Given the description of an element on the screen output the (x, y) to click on. 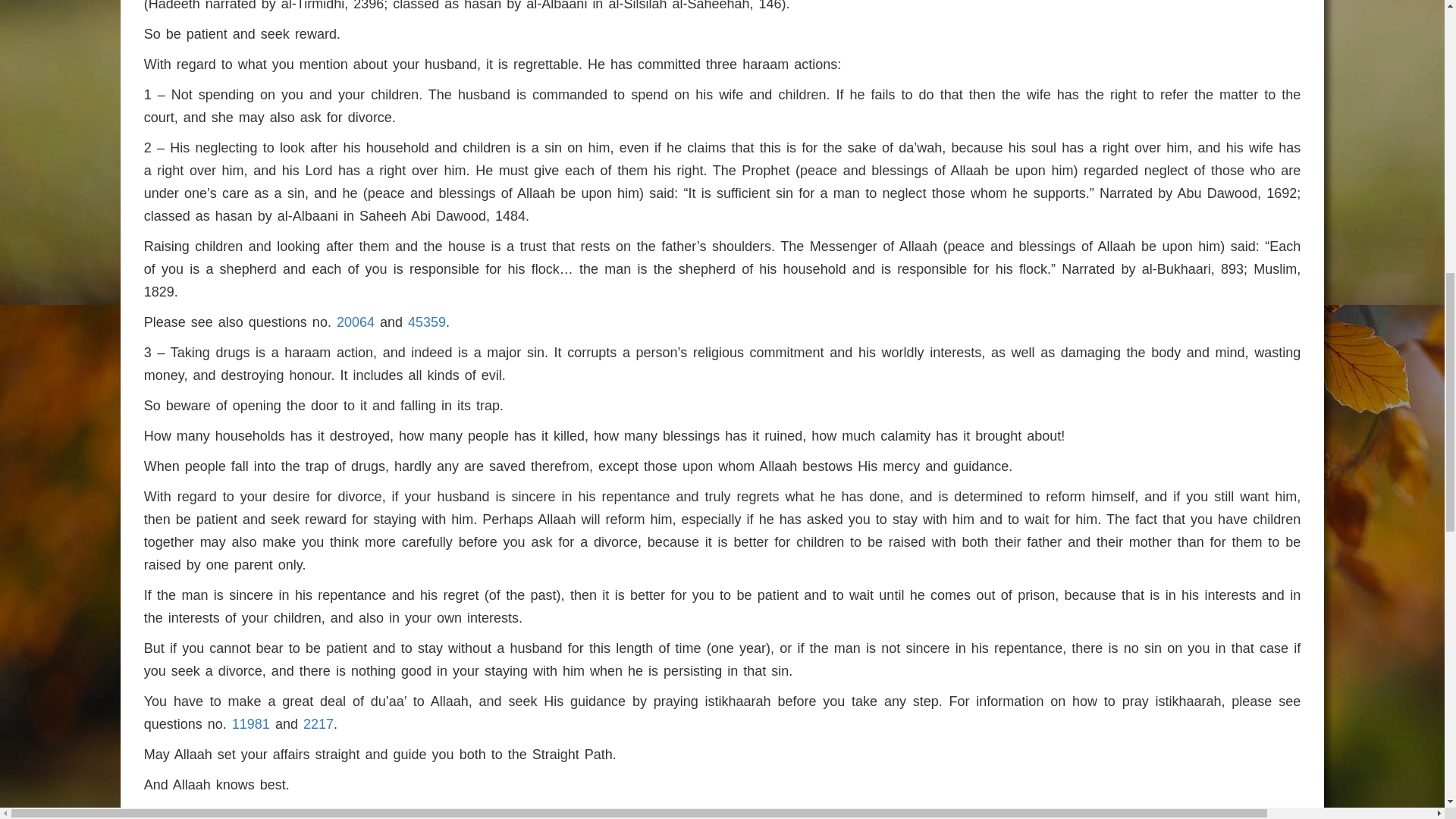
45359 (426, 322)
20064 (355, 322)
11981 (250, 724)
2217 (317, 724)
